Given the description of an element on the screen output the (x, y) to click on. 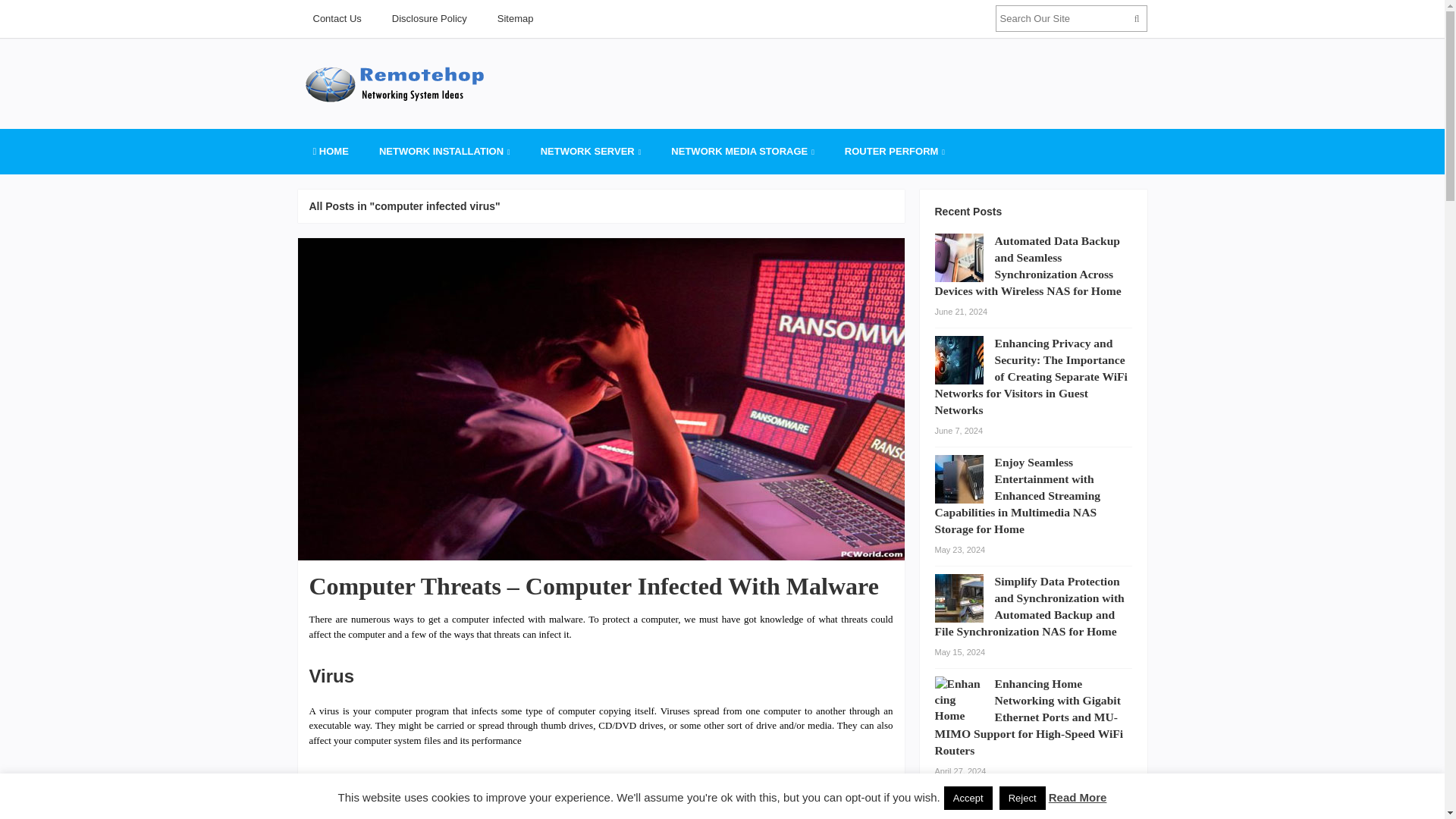
Disclosure Policy (429, 18)
Contact Us (336, 18)
Sitemap (514, 18)
HOME (329, 151)
